Given the description of an element on the screen output the (x, y) to click on. 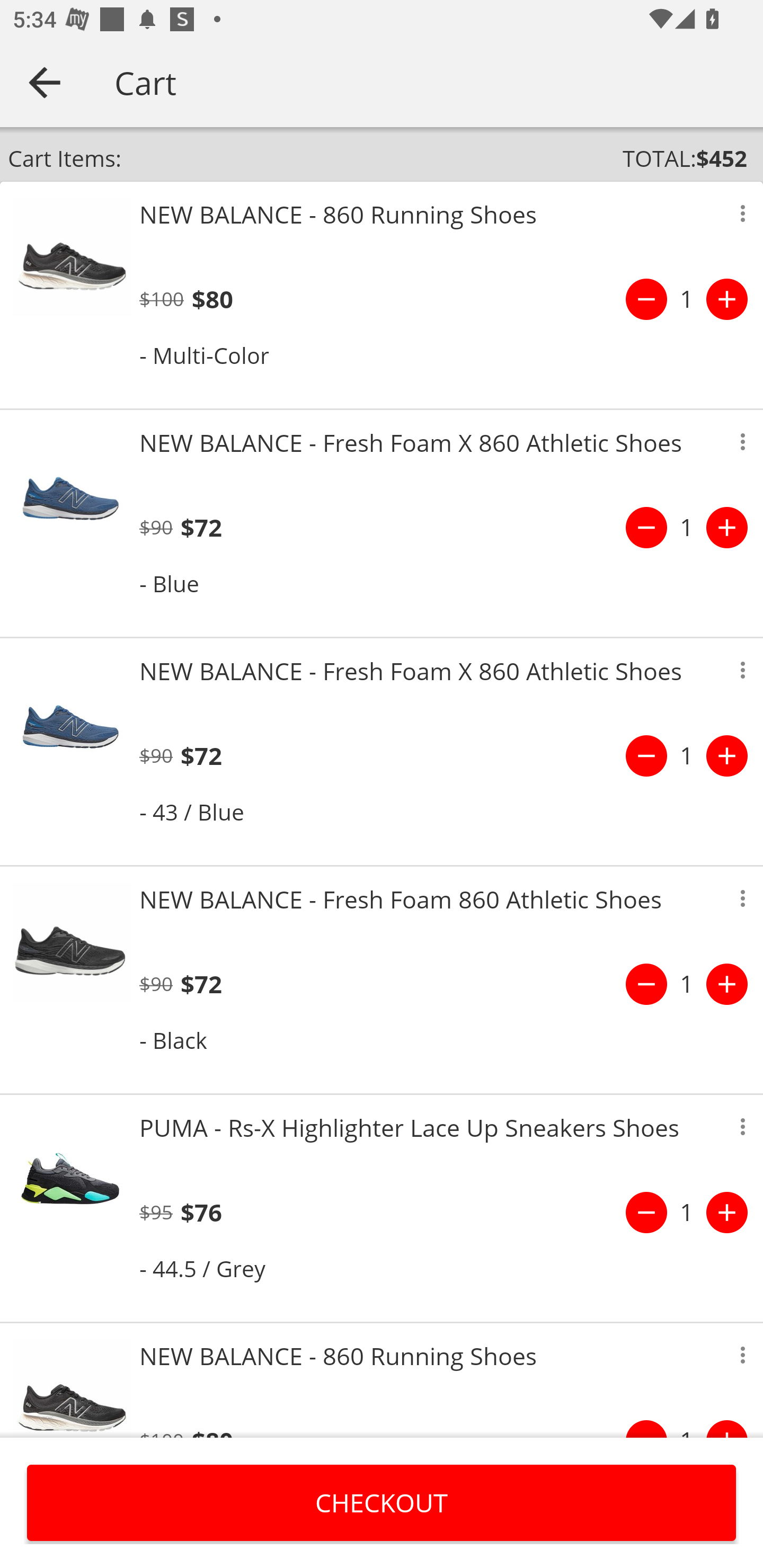
Navigate up (44, 82)
1 (686, 299)
1 (686, 527)
1 (686, 755)
1 (686, 984)
1 (686, 1211)
NEW BALANCE - 860 Running Shoes $100 $80 1 (381, 1380)
CHECKOUT (381, 1502)
